Given the description of an element on the screen output the (x, y) to click on. 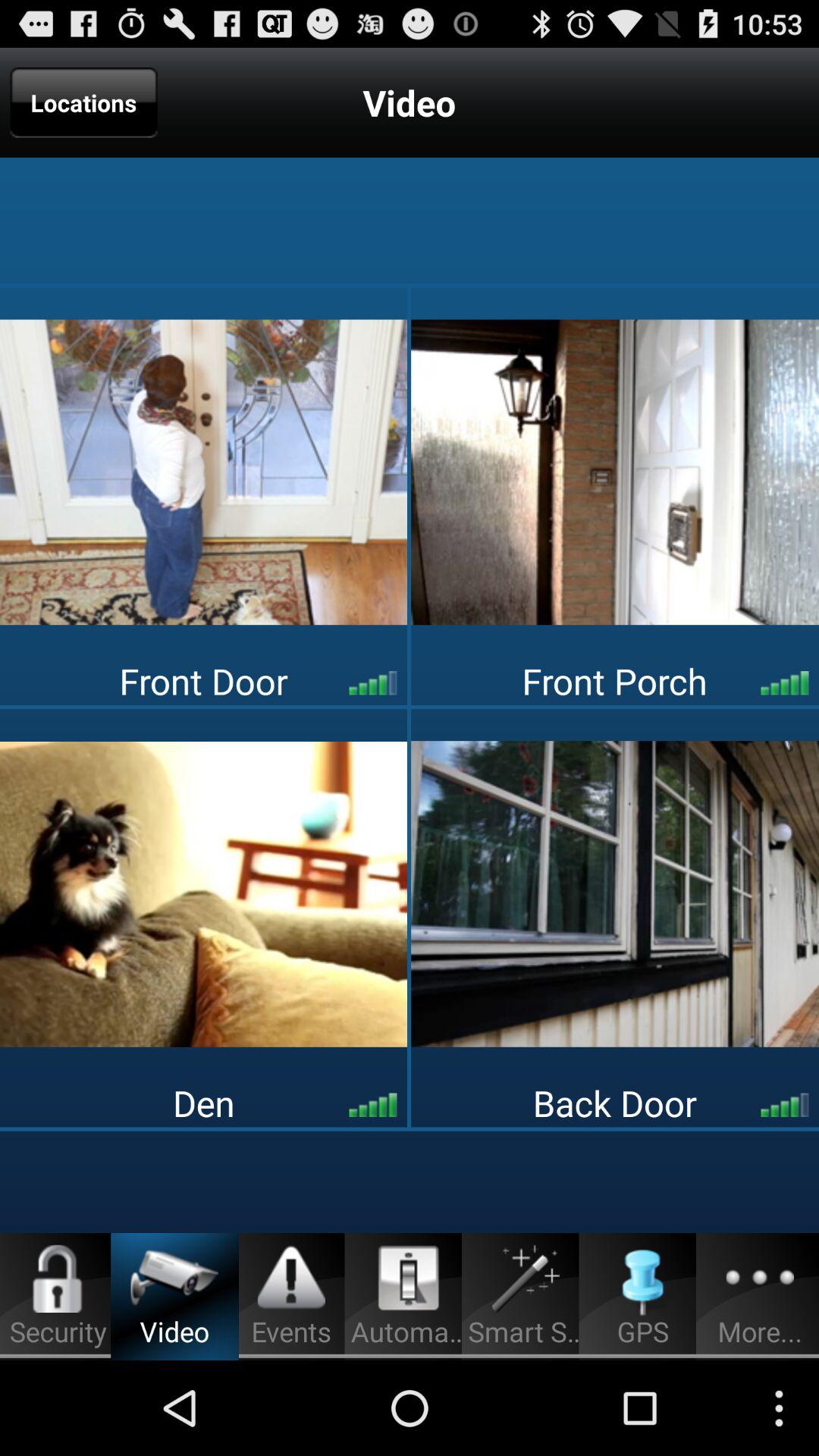
view video for front door (203, 471)
